Given the description of an element on the screen output the (x, y) to click on. 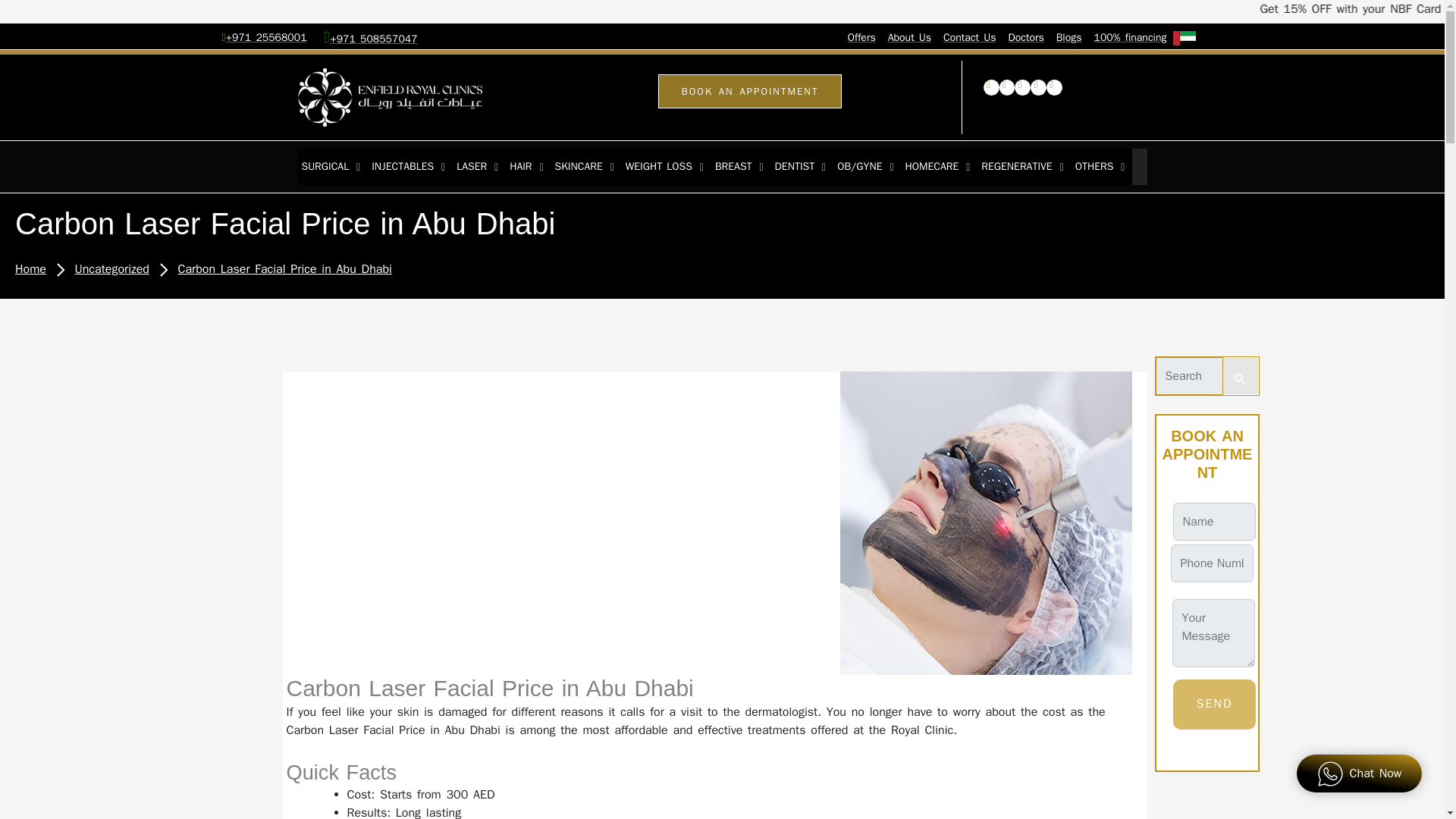
Doctors (1025, 37)
Send (1213, 704)
Offers (861, 37)
Contact Us (969, 37)
Blogs (1069, 37)
About Us (909, 37)
BOOK AN APPOINTMENT (750, 91)
Carbon Laser Facial Price in Abu Dhabi 2 (991, 522)
SURGICAL (332, 166)
